Given the description of an element on the screen output the (x, y) to click on. 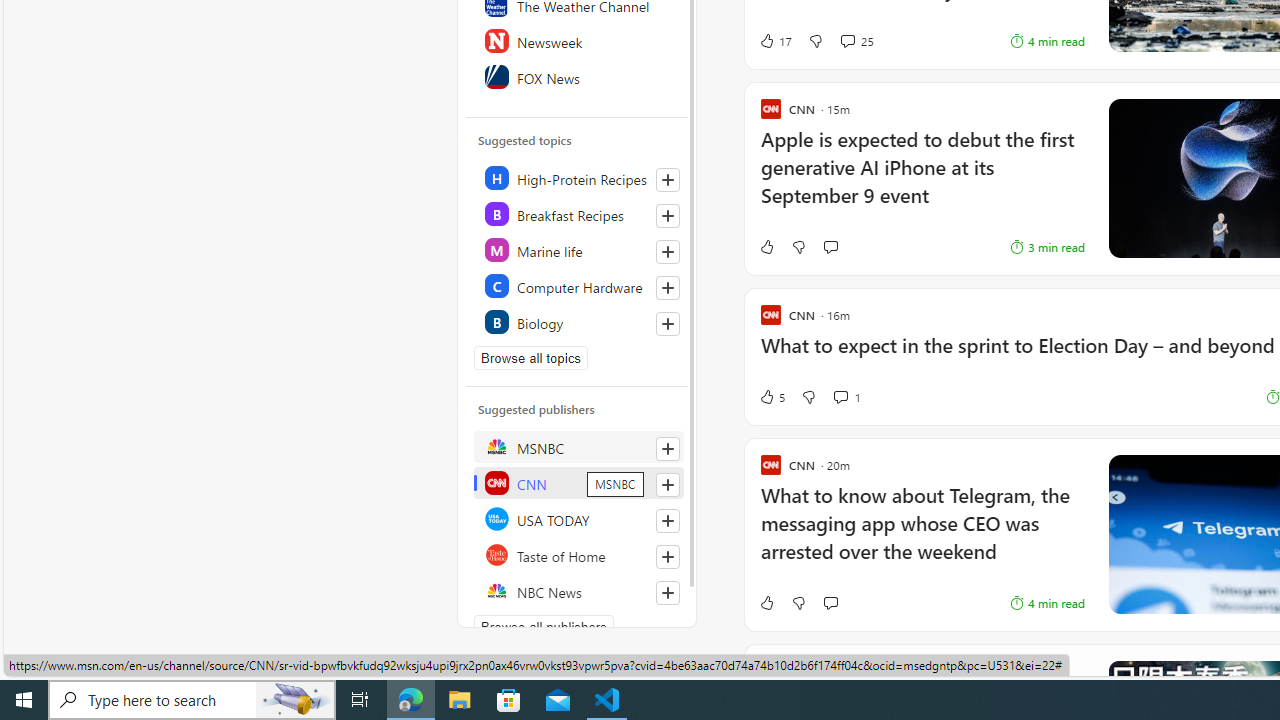
Class: highlight (578, 321)
MSNBC (578, 446)
Follow this topic (667, 323)
NBC News (578, 590)
Like (766, 602)
Follow this topic (667, 323)
Taste of Home (578, 554)
CNN (578, 482)
